Given the description of an element on the screen output the (x, y) to click on. 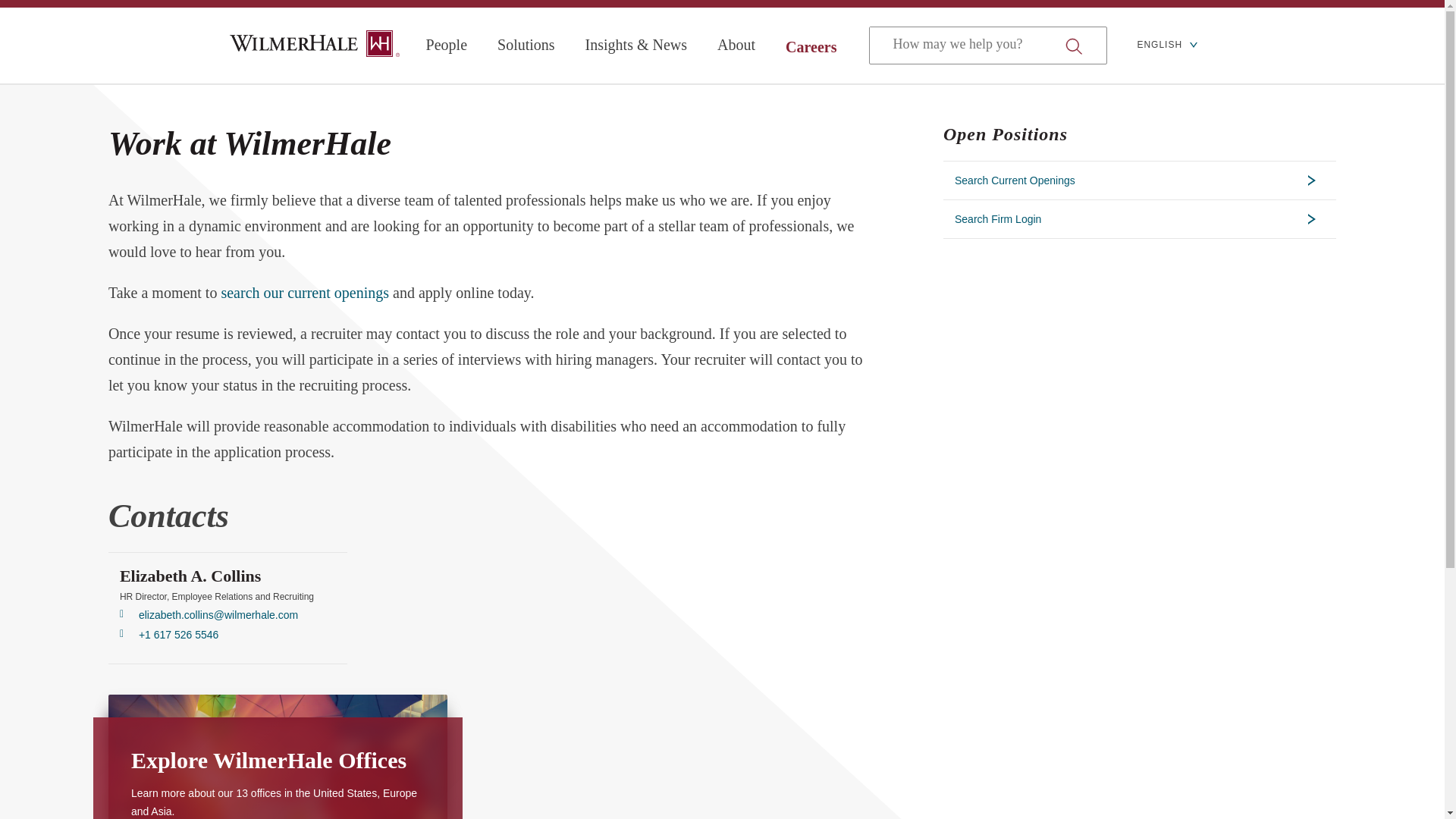
Search Firm Login (1139, 218)
ENGLISH (1166, 45)
Search Current Openings (1139, 180)
Solutions (525, 45)
Careers (810, 47)
WilmerHale Business Professional Openings (304, 292)
People (446, 45)
About (736, 45)
search our current openings (304, 292)
